Given the description of an element on the screen output the (x, y) to click on. 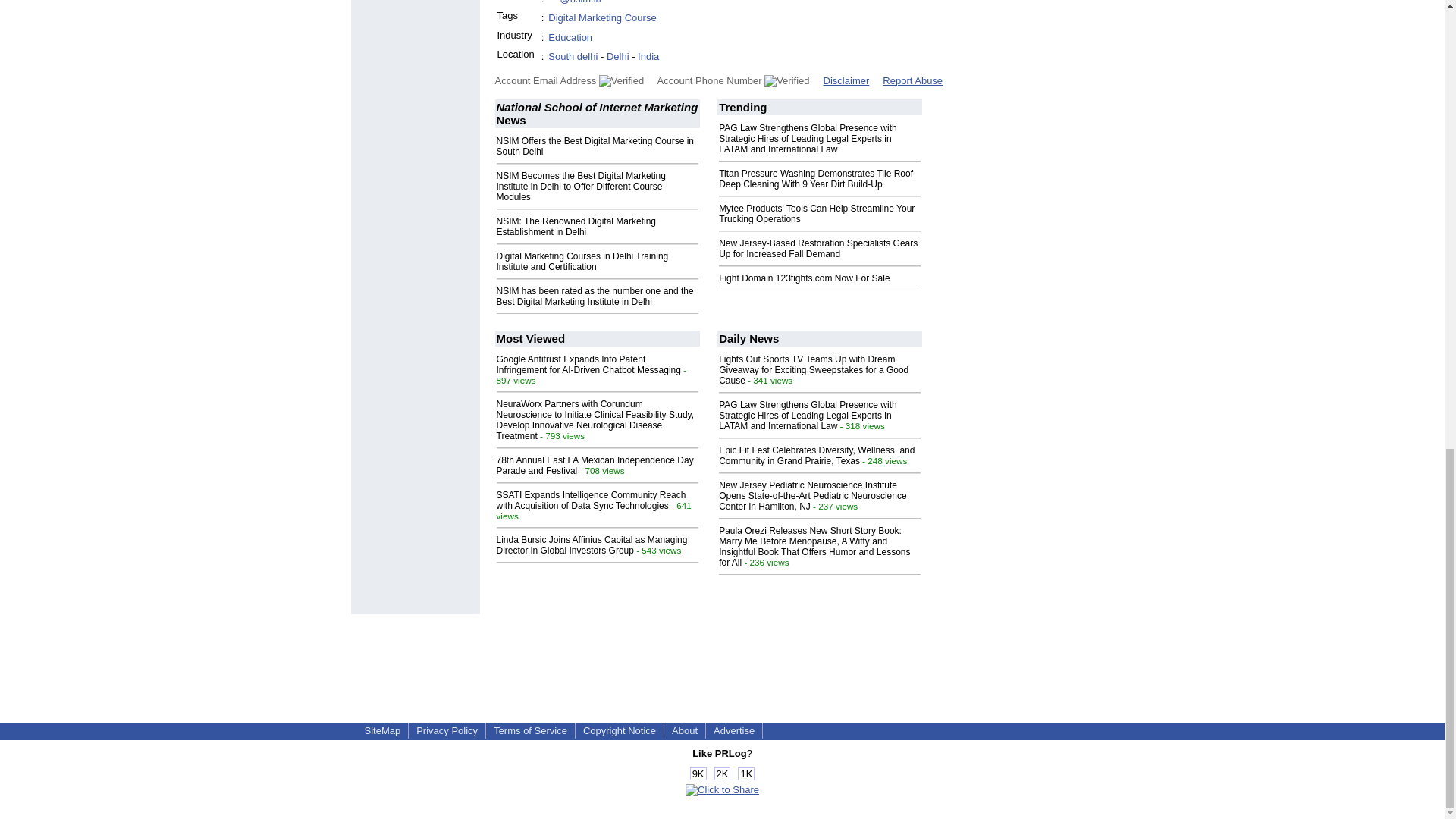
Verified (786, 80)
Verified (620, 80)
Share this page! (721, 789)
